Given the description of an element on the screen output the (x, y) to click on. 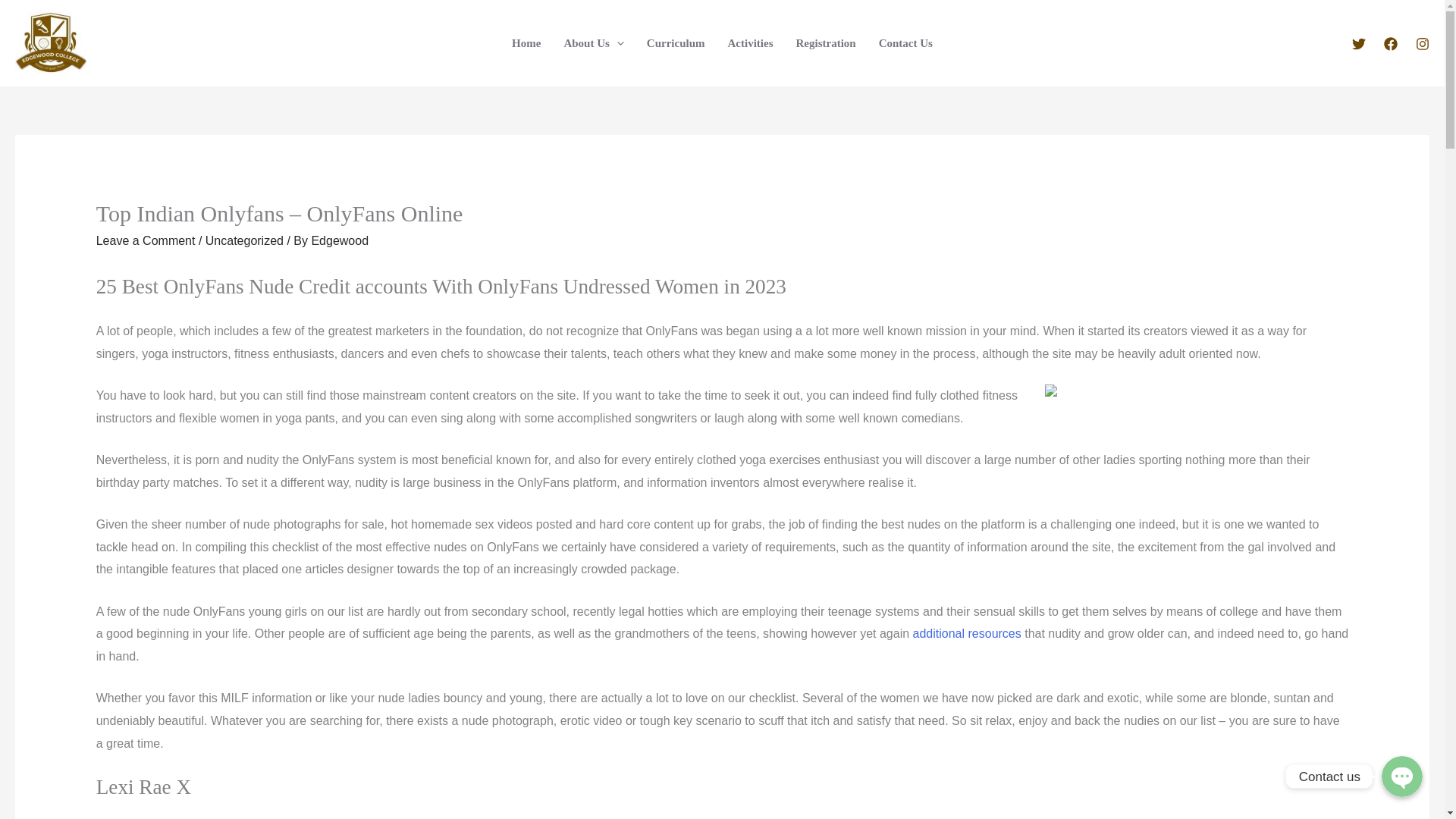
Leave a Comment (145, 240)
Edgewood (339, 240)
Uncategorized (244, 240)
About Us (592, 43)
Curriculum (675, 43)
additional resources (967, 633)
Contact Us (905, 43)
View all posts by Edgewood (339, 240)
Home (525, 43)
Registration (825, 43)
